Given the description of an element on the screen output the (x, y) to click on. 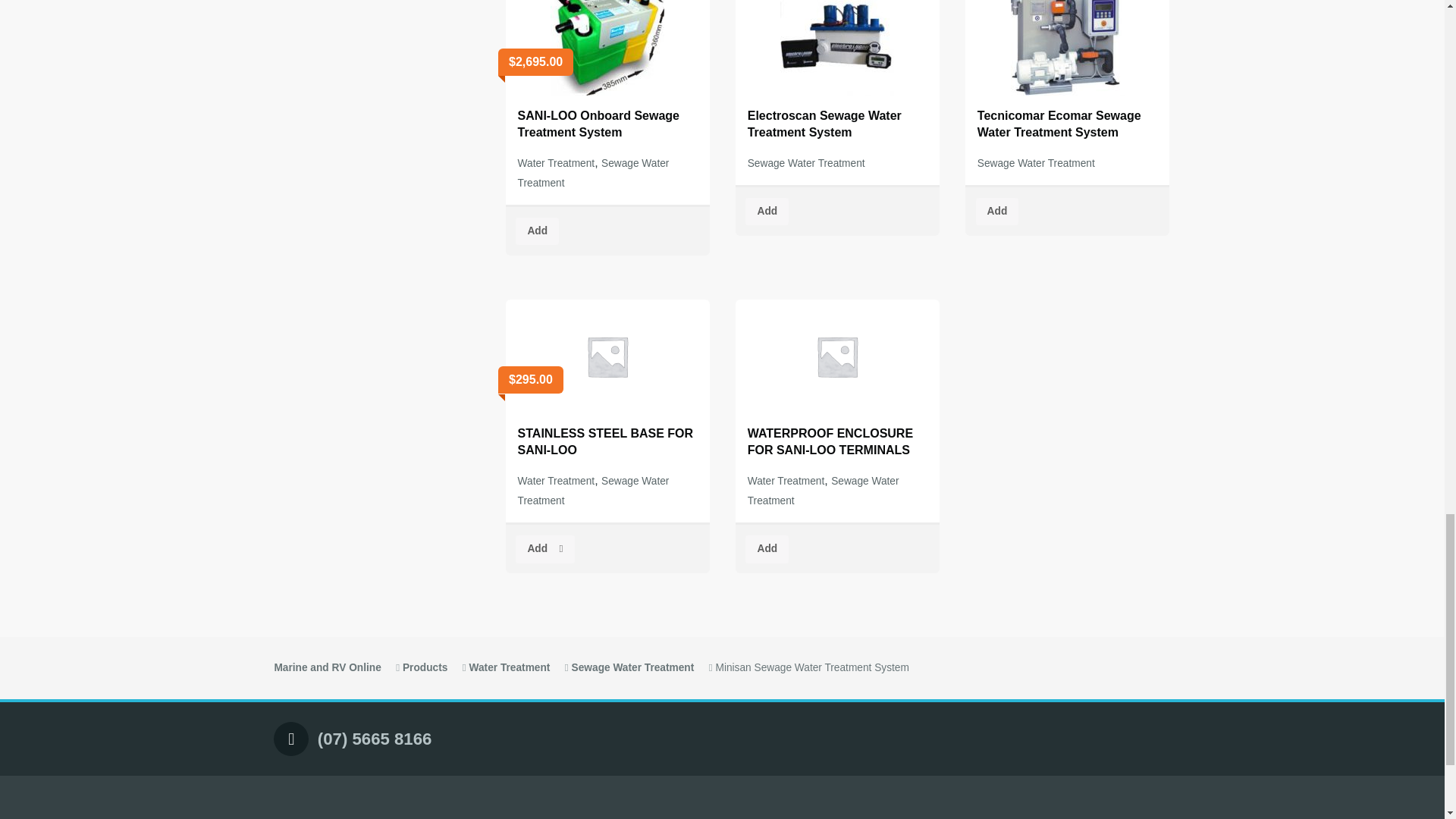
Add (537, 231)
Water Treatment (556, 163)
Marine and RV Online (326, 667)
Electroscan Sewage Water Treatment System (837, 76)
Products (424, 667)
Sewage Water Treatment (593, 173)
View Water Treatment (509, 667)
View Sewage Water Treatment (633, 667)
